Given the description of an element on the screen output the (x, y) to click on. 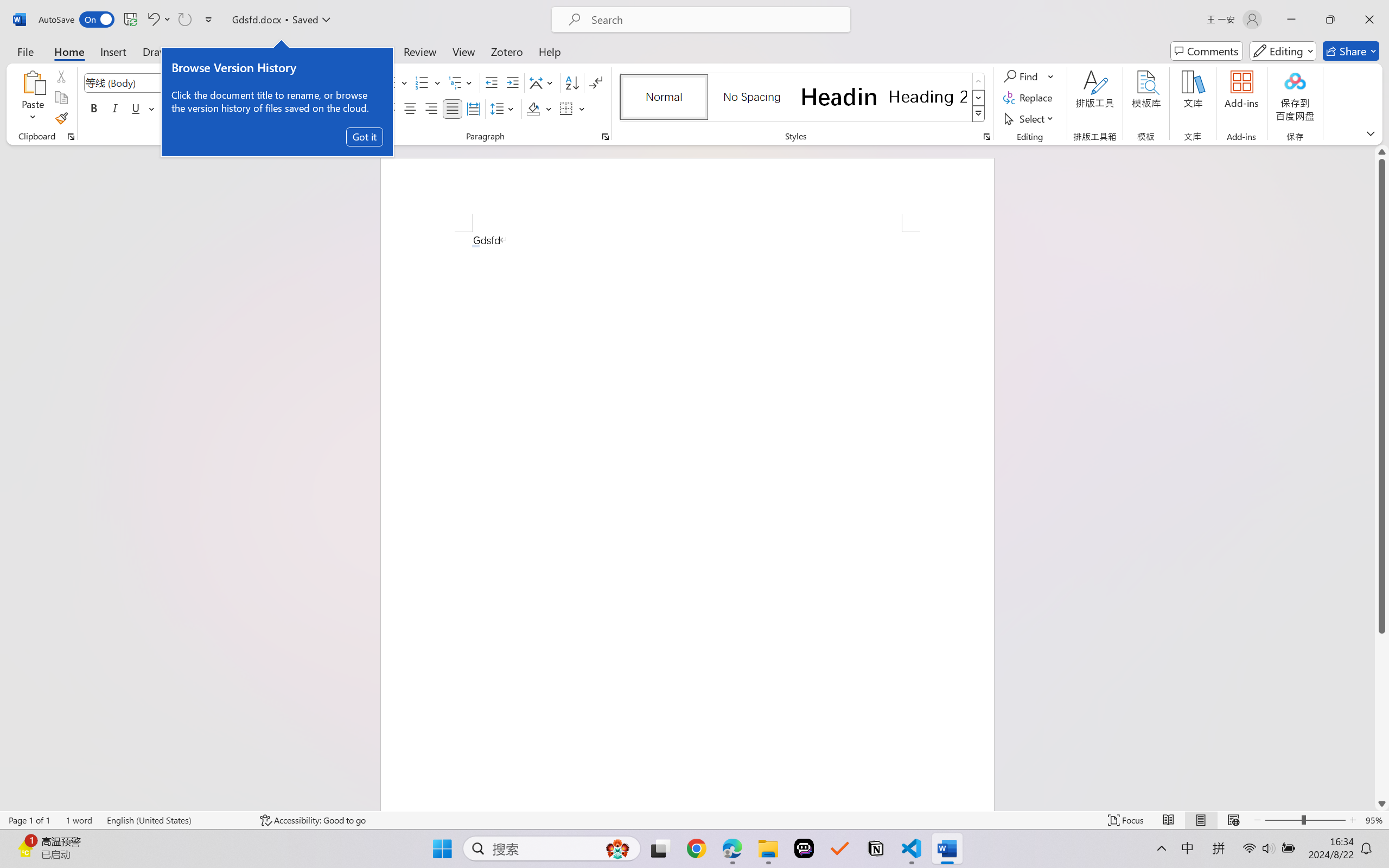
Italic (115, 108)
Page down (1382, 714)
Enclose Characters... (356, 108)
Styles... (986, 136)
Grow Font (233, 82)
Heading 1 (839, 96)
